Given the description of an element on the screen output the (x, y) to click on. 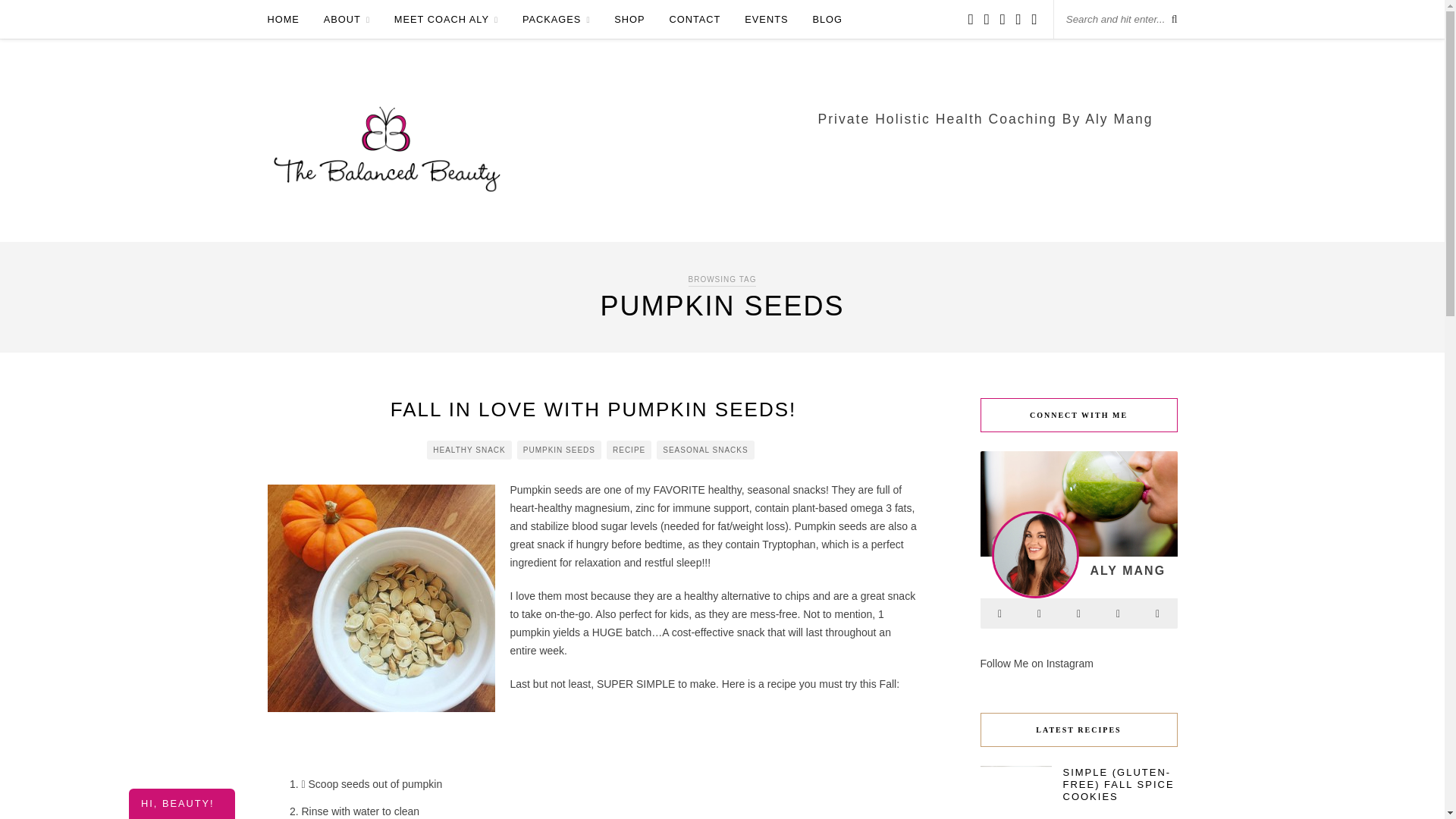
SEASONAL SNACKS (705, 449)
RECIPE (628, 449)
Twitter (1156, 613)
FALL IN LOVE WITH PUMPKIN SEEDS! (593, 409)
PACKAGES (556, 19)
MEET COACH ALY (445, 19)
PUMPKIN SEEDS (558, 449)
HEALTHY SNACK (468, 449)
Facebook (999, 613)
LinkedIn (1077, 613)
Instagram (1038, 613)
EVENTS (765, 19)
Pinterest (1117, 613)
CONTACT (694, 19)
ABOUT (346, 19)
